Given the description of an element on the screen output the (x, y) to click on. 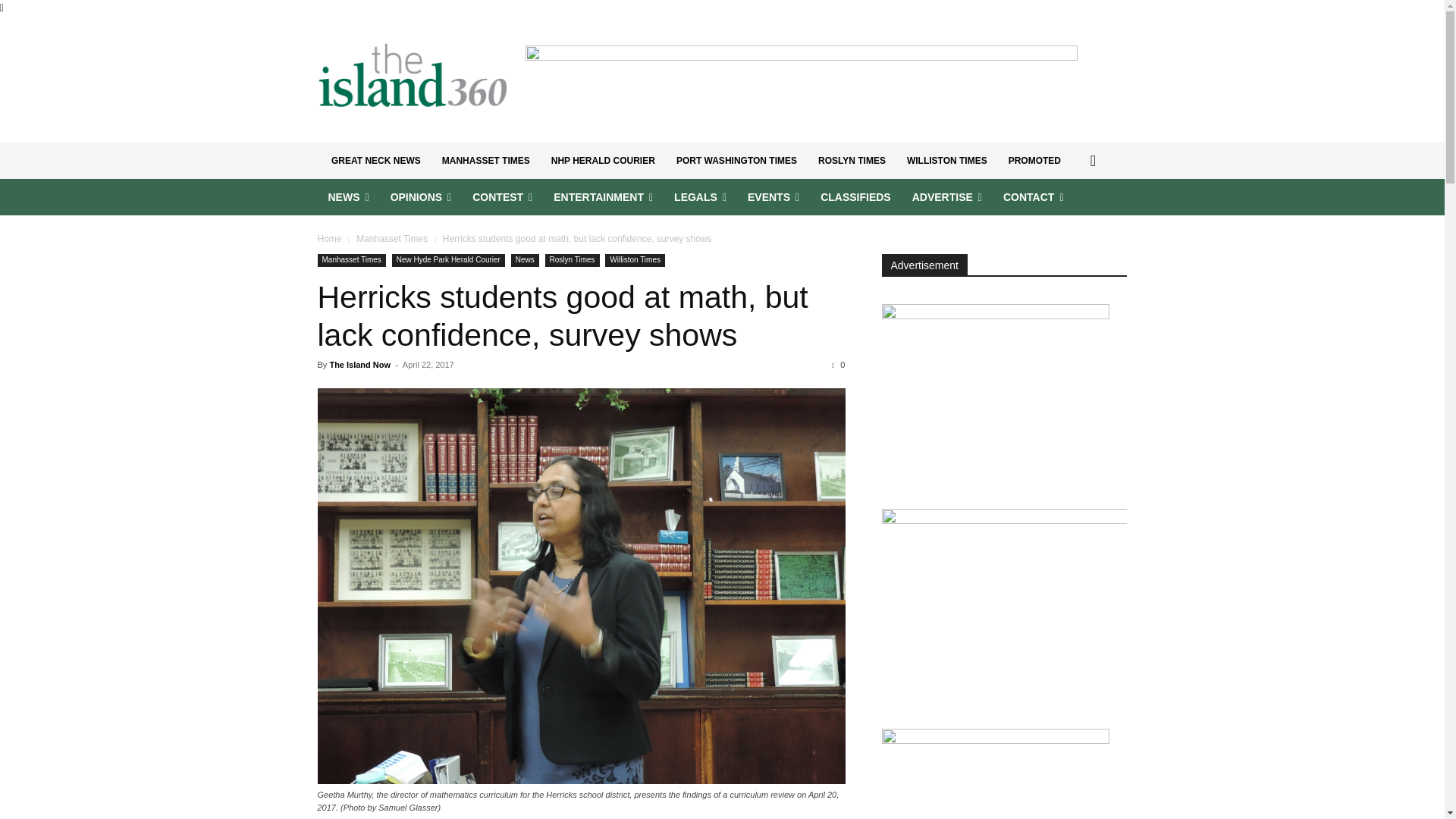
View all posts in Manhasset Times (392, 238)
Posts by The Island Now (359, 364)
